Given the description of an element on the screen output the (x, y) to click on. 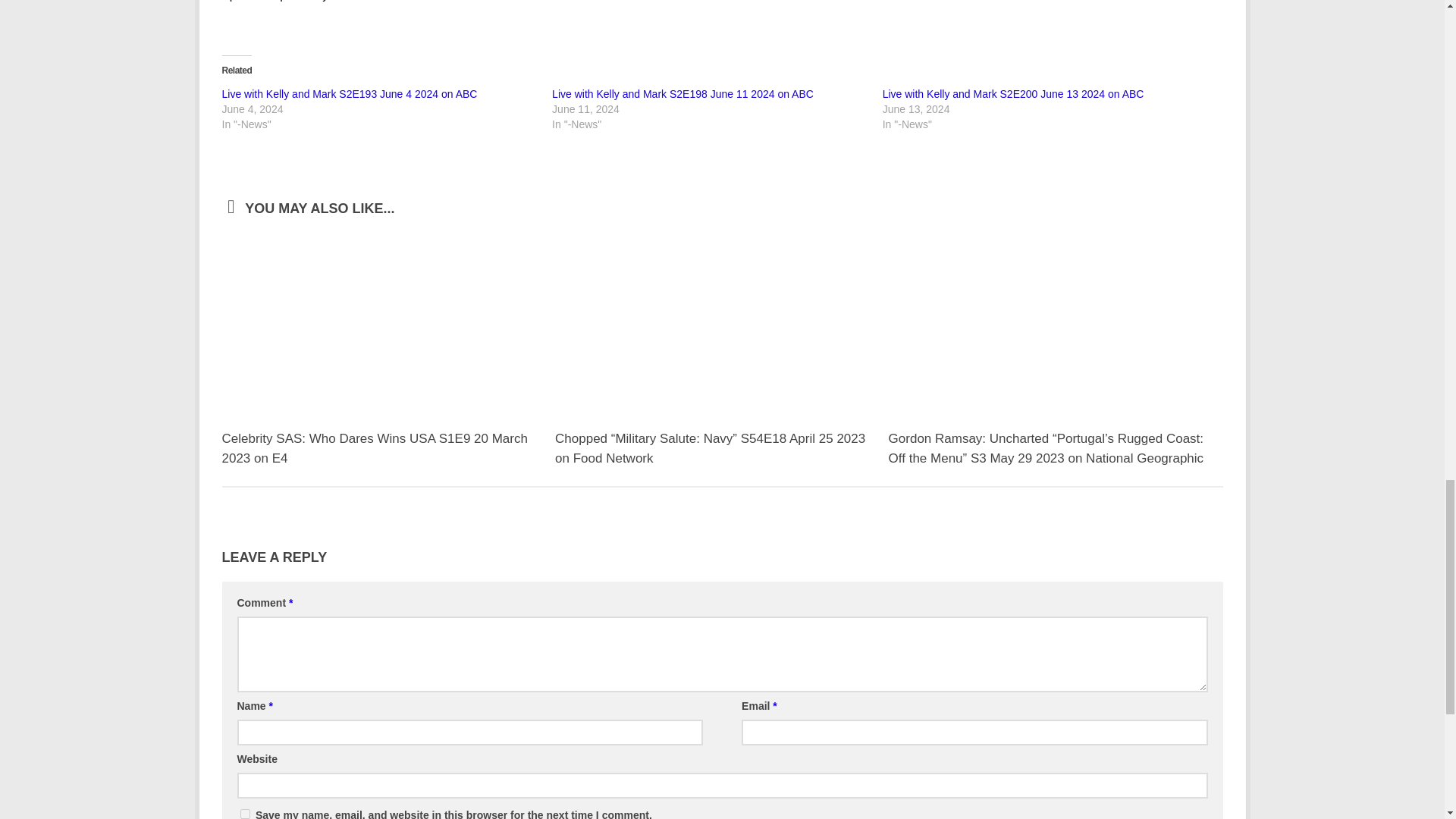
Celebrity SAS: Who Dares Wins USA S1E9 20 March 2023 on E4 1 (387, 324)
yes (244, 814)
Live with Kelly and Mark S2E200 June 13 2024 on ABC (1013, 93)
Live with Kelly and Mark S2E198 June 11 2024 on ABC (682, 93)
Live with Kelly and Mark S2E193 June 4 2024 on ABC (349, 93)
